Given the description of an element on the screen output the (x, y) to click on. 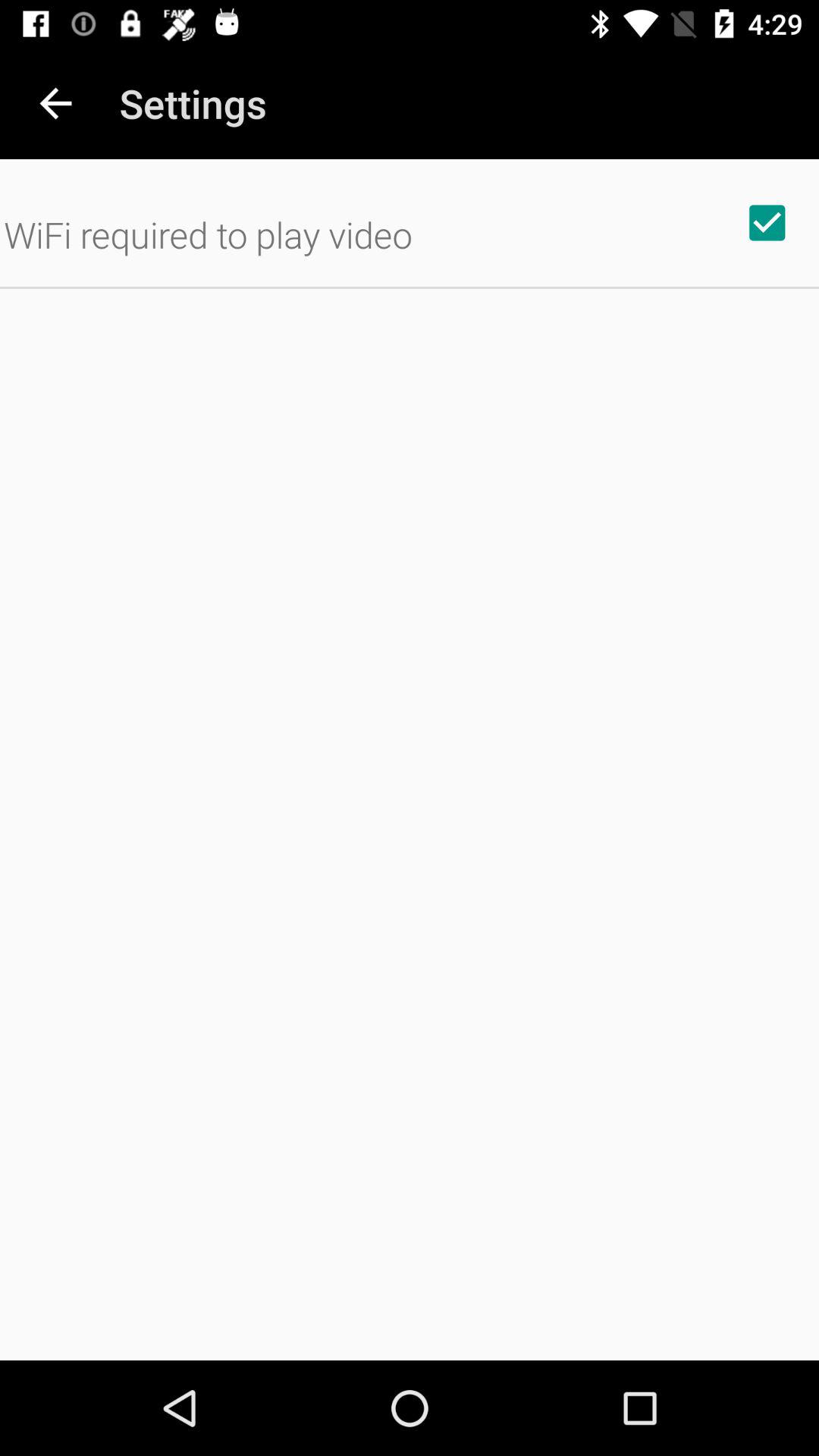
open the app to the right of the wifi required to icon (767, 222)
